Given the description of an element on the screen output the (x, y) to click on. 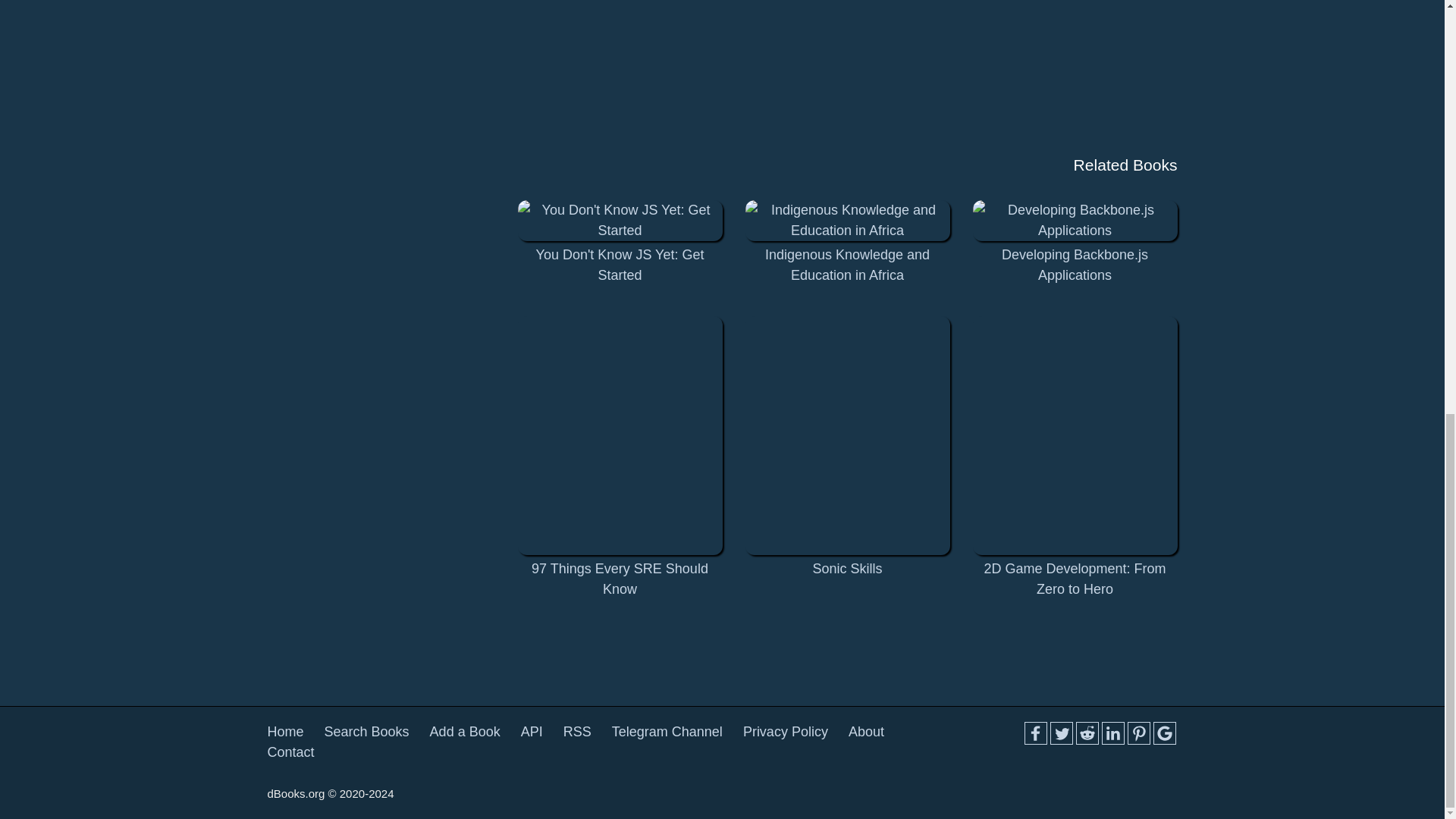
Share to Reddit (1086, 732)
Share to Pinterest (1138, 732)
Share to LinkedIn (1112, 732)
Share to Facebook (1034, 732)
Share to Twitter (1060, 732)
Add to Google Bookmarks (1163, 732)
